Given the description of an element on the screen output the (x, y) to click on. 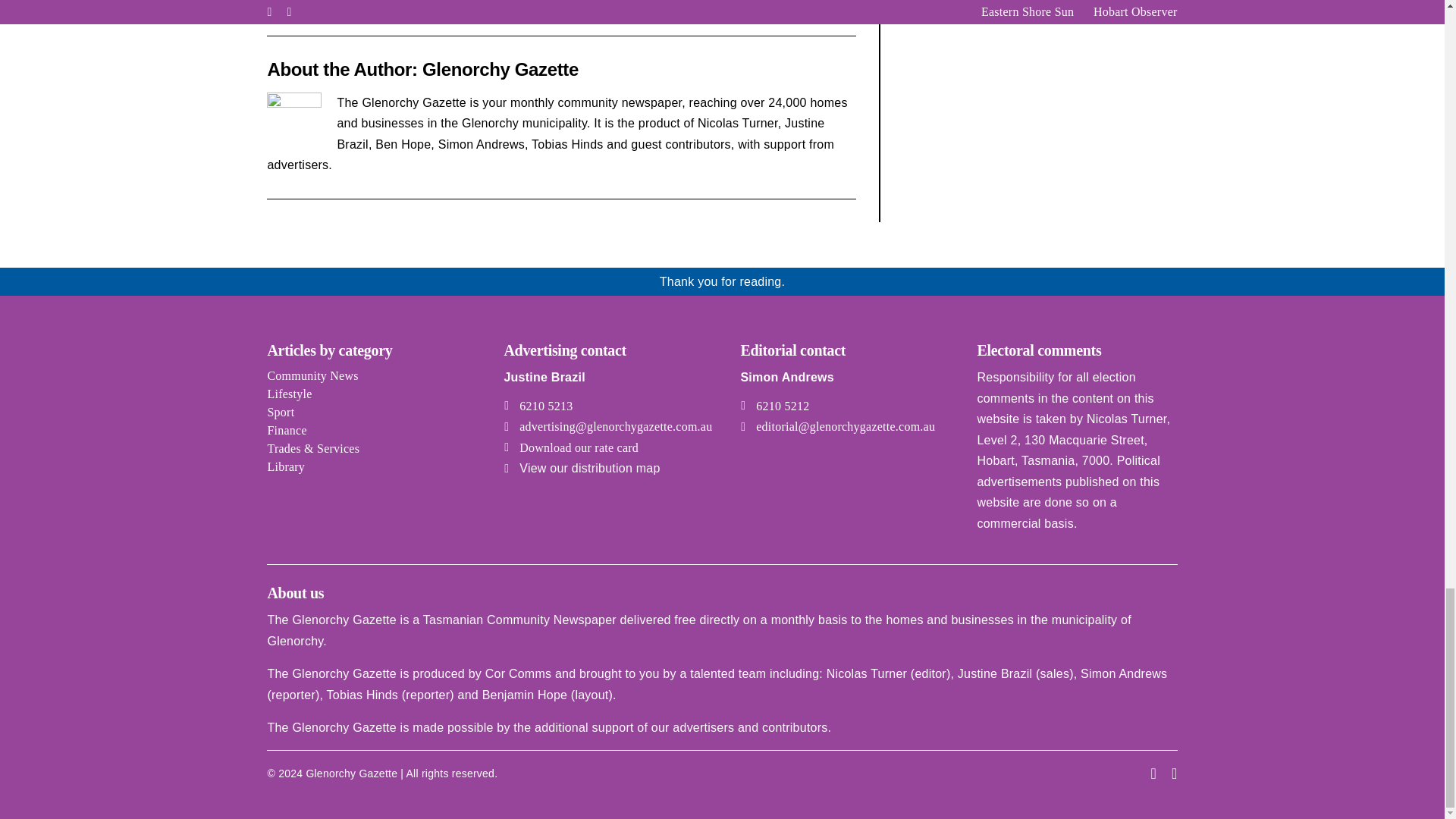
Email (845, 10)
Facebook (805, 10)
Glenorchy Gazette (500, 68)
Twitter (825, 10)
